Given the description of an element on the screen output the (x, y) to click on. 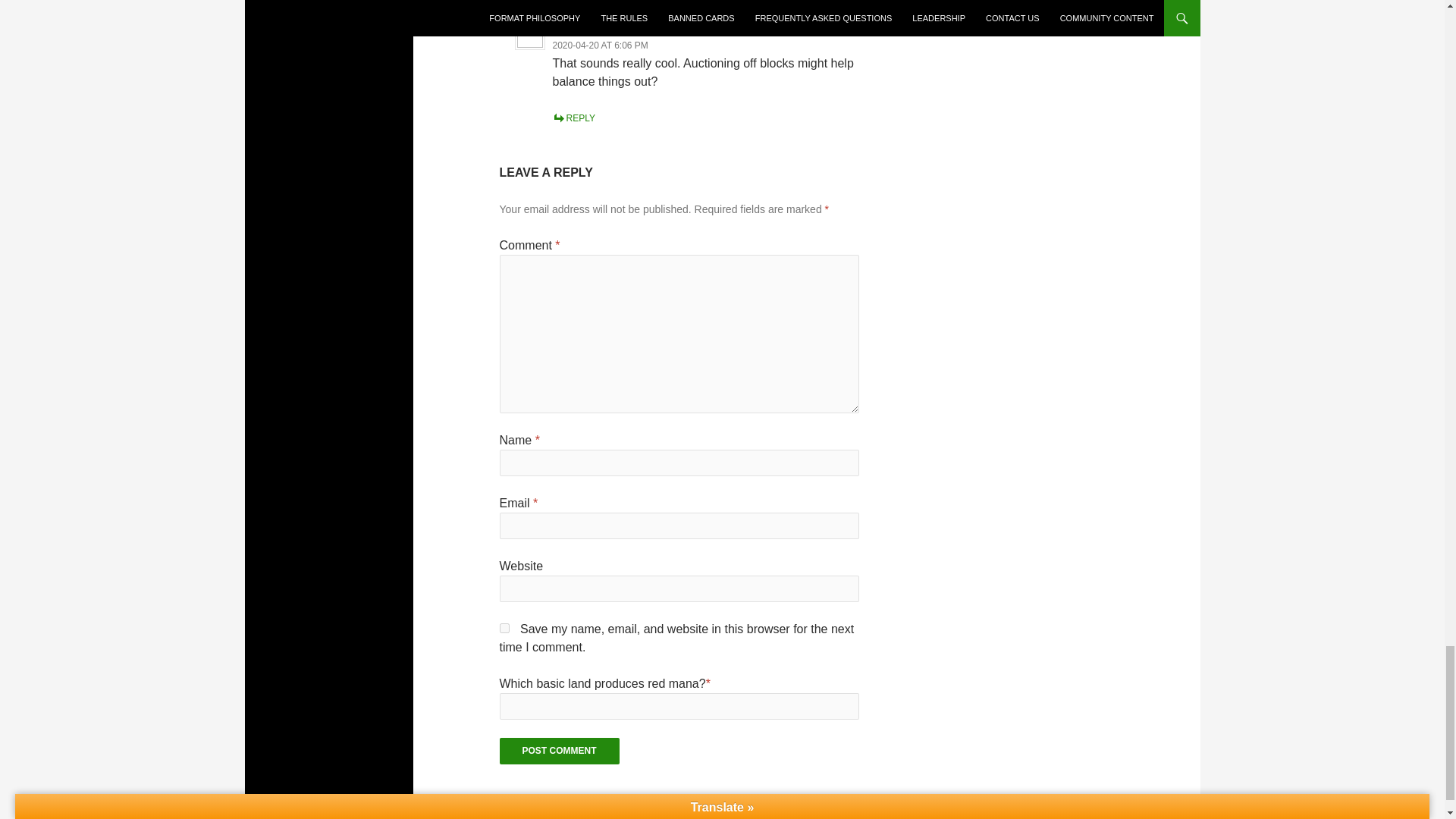
Post Comment (559, 750)
2020-04-20 AT 6:06 PM (600, 45)
yes (504, 628)
Post Comment (559, 750)
REPLY (574, 118)
